Given the description of an element on the screen output the (x, y) to click on. 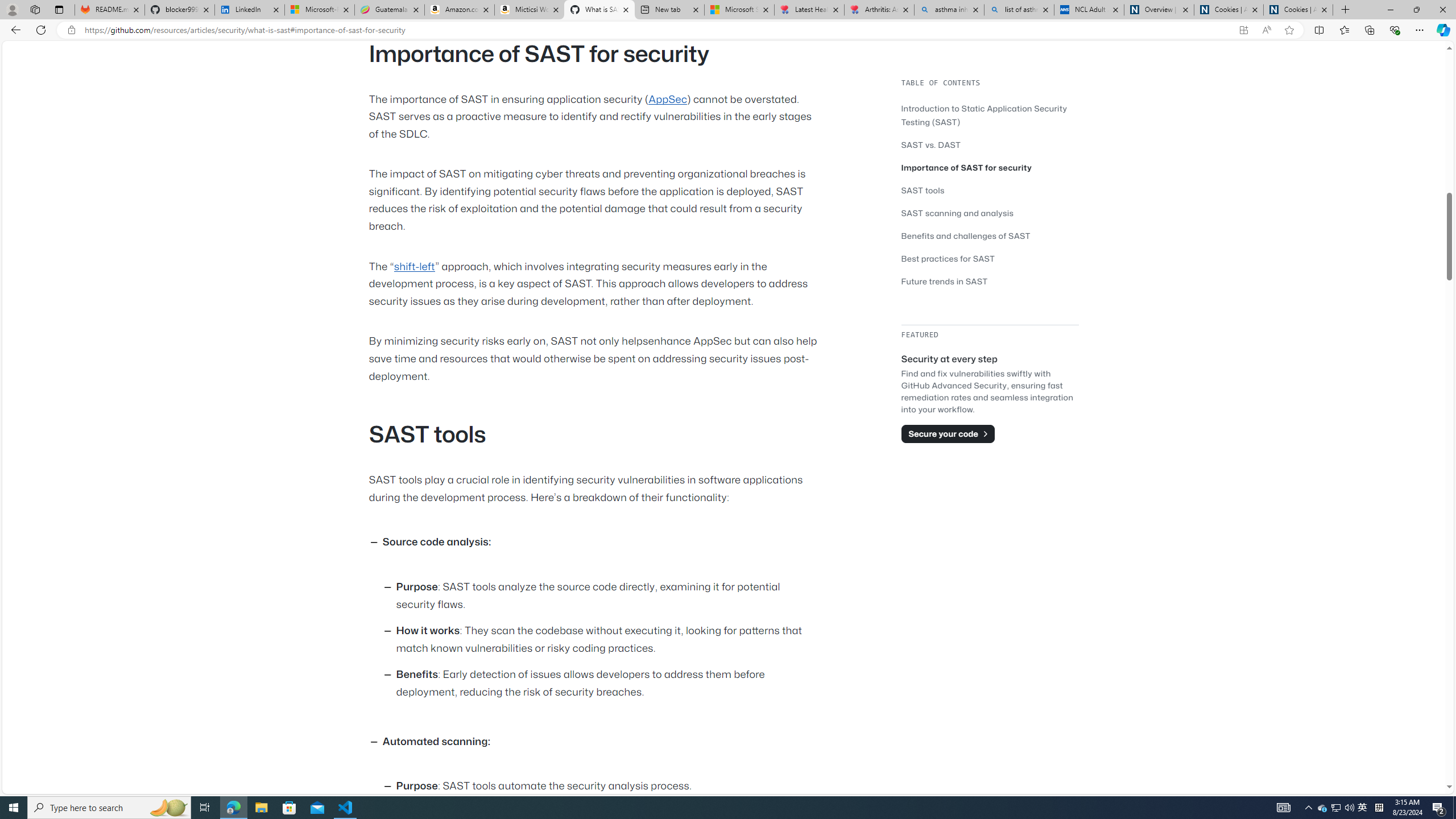
Introduction to Static Application Security Testing (SAST) (989, 115)
Introduction to Static Application Security Testing (SAST) (984, 114)
SAST tools (922, 189)
Benefits and challenges of SAST (989, 235)
Arthritis: Ask Health Professionals (879, 9)
